Given the description of an element on the screen output the (x, y) to click on. 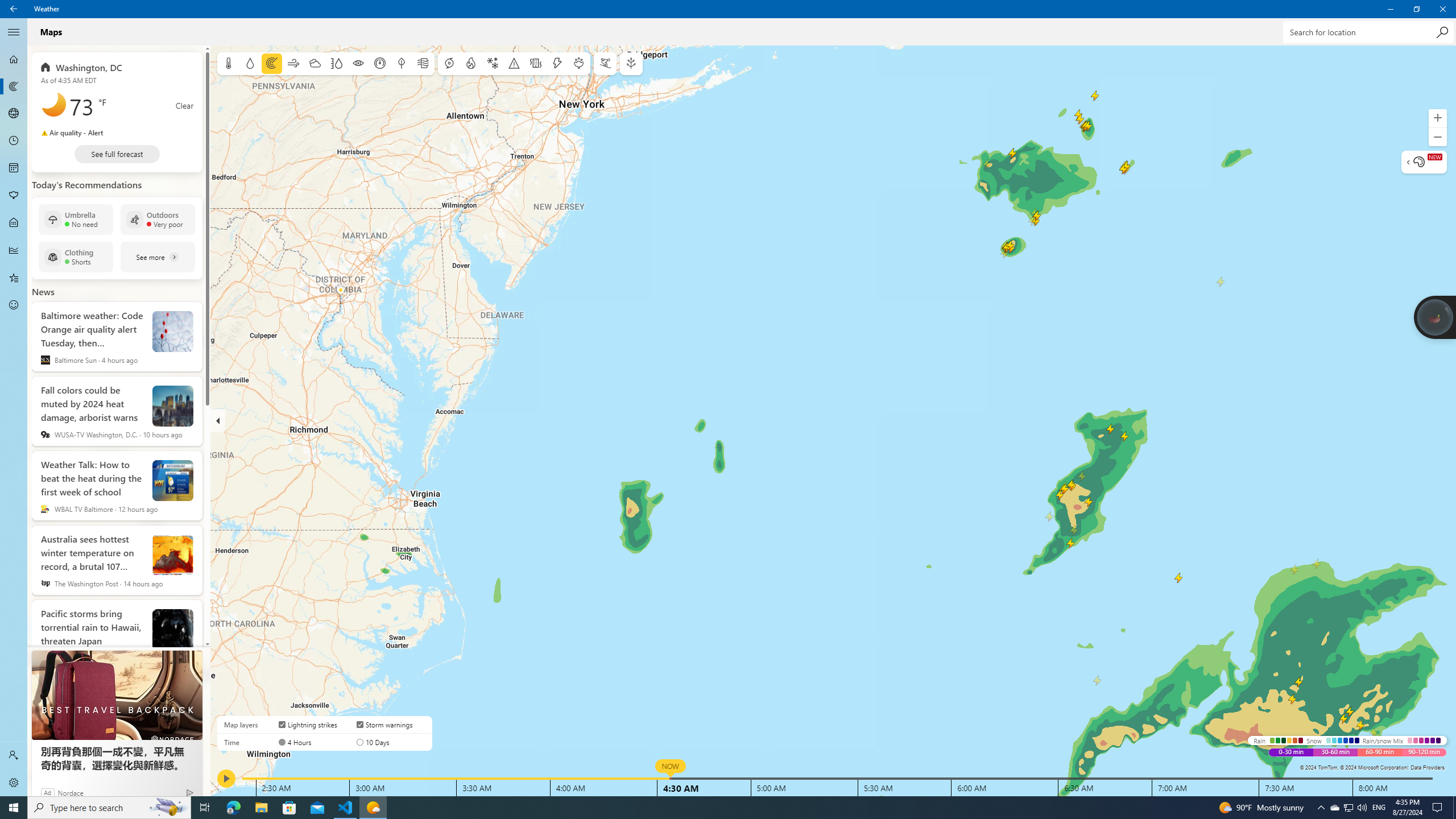
Search (1442, 31)
Life - Not Selected (13, 222)
Forecast - Not Selected (13, 58)
